Given the description of an element on the screen output the (x, y) to click on. 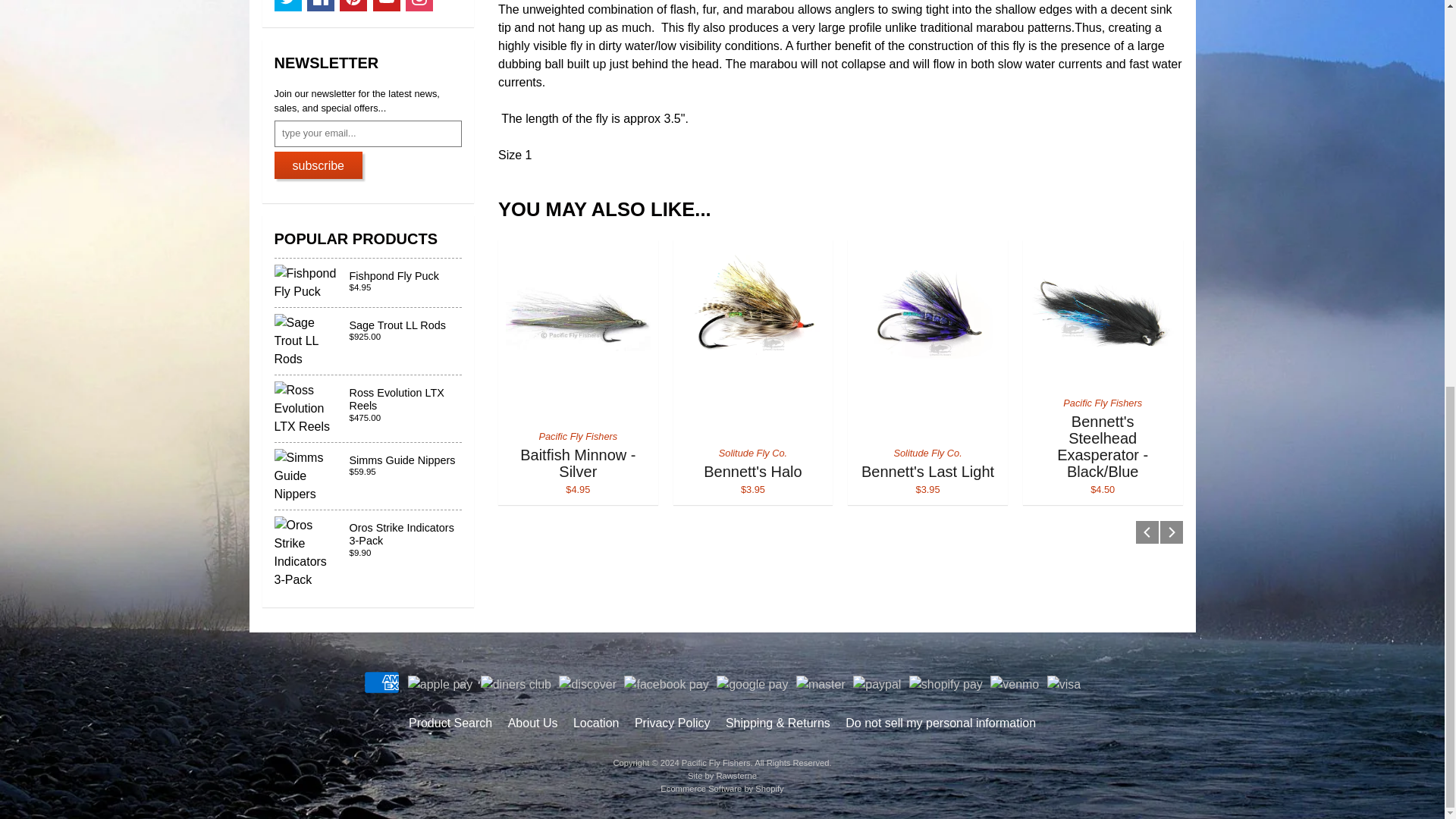
Ross Evolution LTX Reels (369, 408)
Youtube (386, 5)
Oros Strike Indicators 3-Pack (369, 552)
Instagram (419, 5)
Twitter (288, 5)
Facebook (320, 5)
Fishpond Fly Puck (369, 282)
Simms Guide Nippers (369, 476)
Pinterest (352, 5)
Sage Trout LL Rods (369, 340)
